Given the description of an element on the screen output the (x, y) to click on. 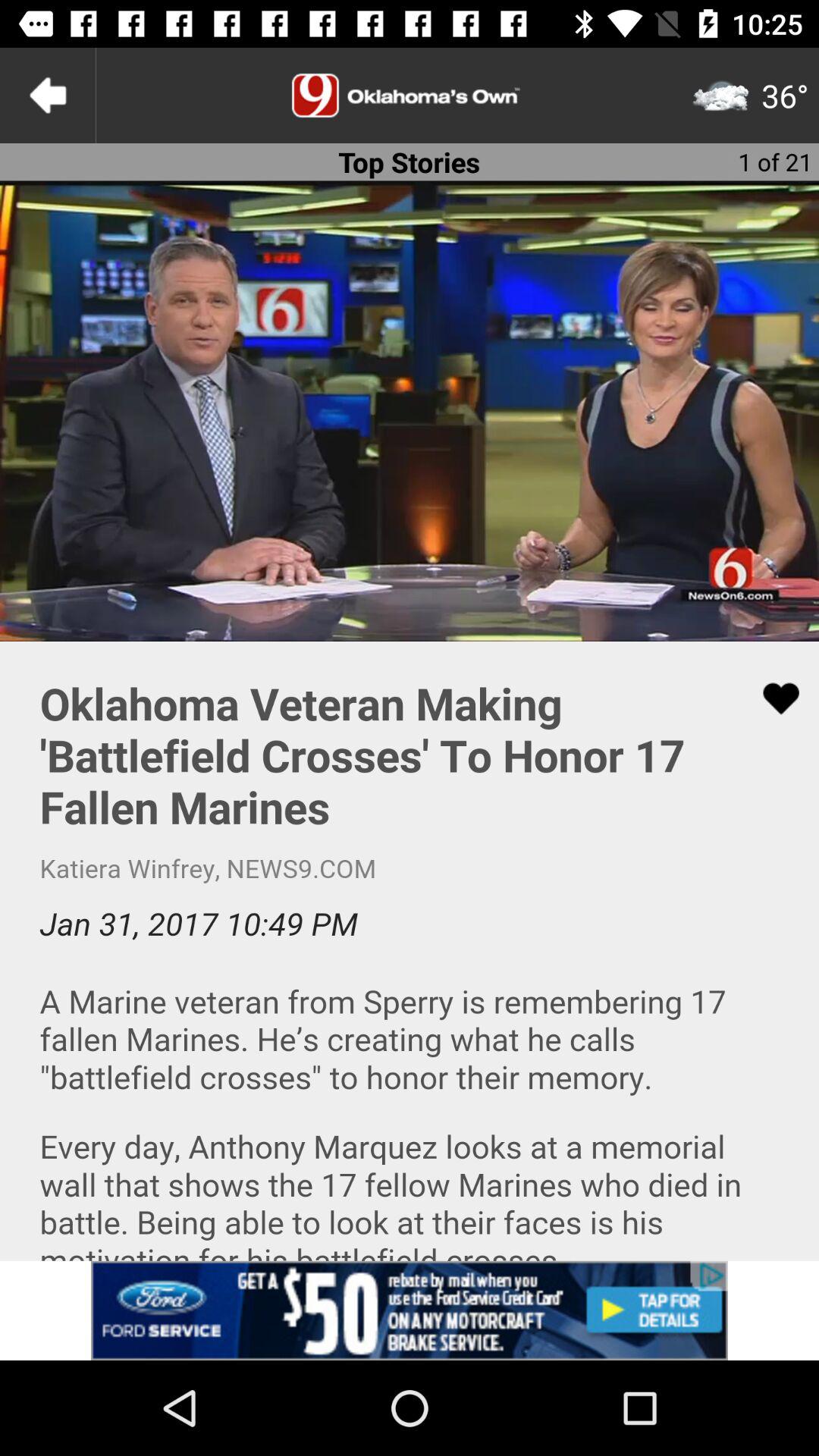
store (409, 1310)
